Given the description of an element on the screen output the (x, y) to click on. 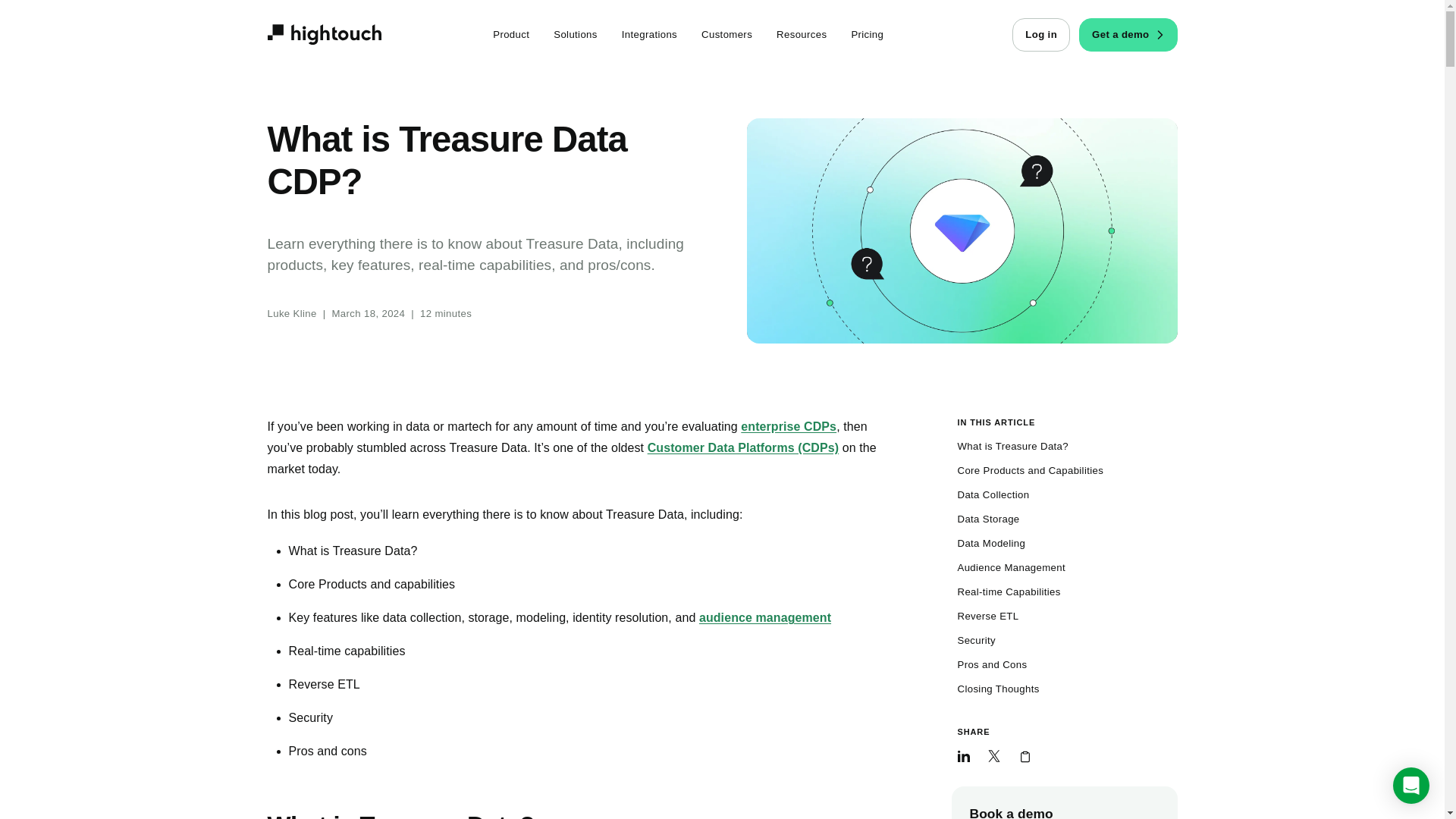
Solutions (575, 34)
Integrations (649, 34)
Product (510, 34)
